Given the description of an element on the screen output the (x, y) to click on. 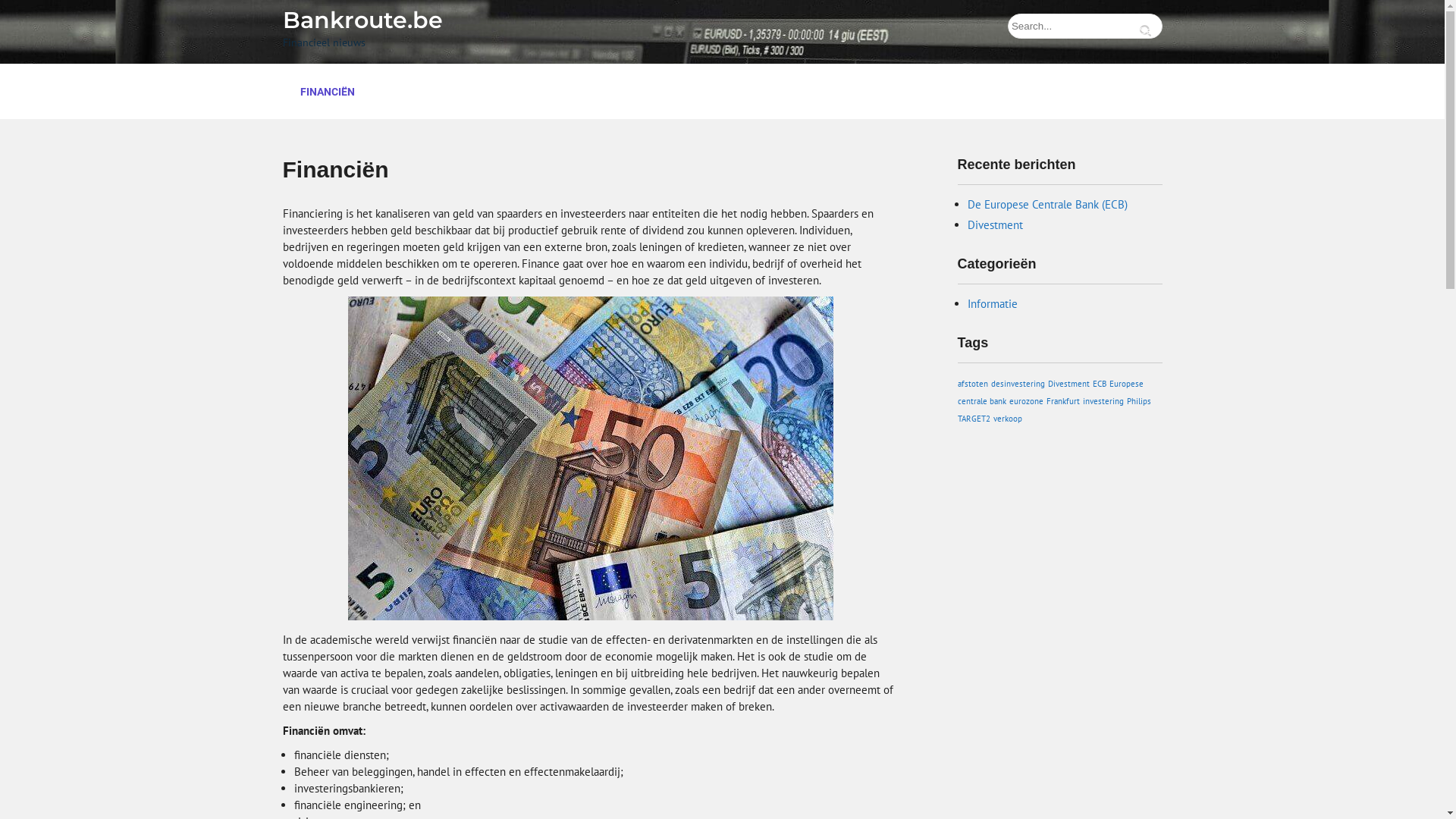
Informatie Element type: text (992, 303)
TARGET2 Element type: text (973, 418)
ECB Element type: text (1098, 383)
verkoop Element type: text (1007, 418)
Philips Element type: text (1138, 400)
investering Element type: text (1102, 400)
Bankroute.be Element type: text (362, 20)
afstoten Element type: text (972, 383)
De Europese Centrale Bank (ECB) Element type: text (1047, 204)
Divestment Element type: text (1068, 383)
Europese centrale bank Element type: text (1049, 392)
Frankfurt Element type: text (1062, 400)
desinvestering Element type: text (1017, 383)
Divestment Element type: text (994, 224)
eurozone Element type: text (1025, 400)
Search Element type: text (1148, 30)
